Given the description of an element on the screen output the (x, y) to click on. 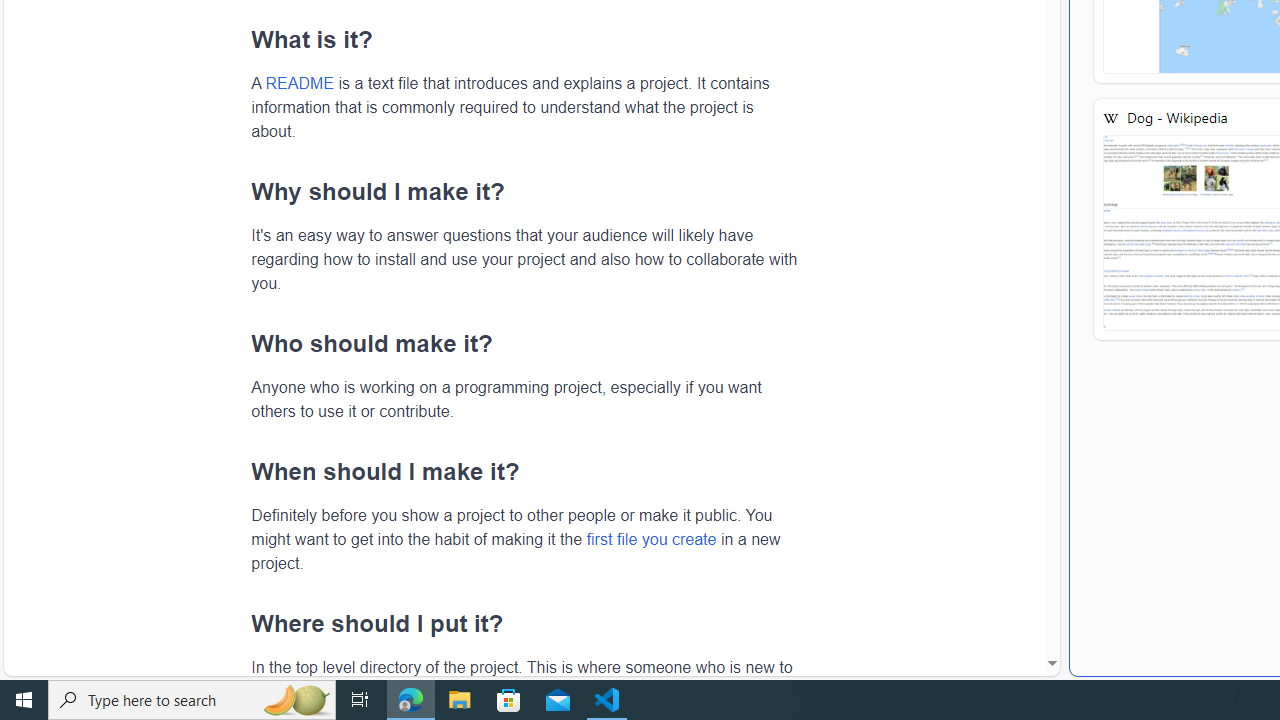
first file you create (651, 538)
README (299, 83)
Anchor (240, 623)
